Given the description of an element on the screen output the (x, y) to click on. 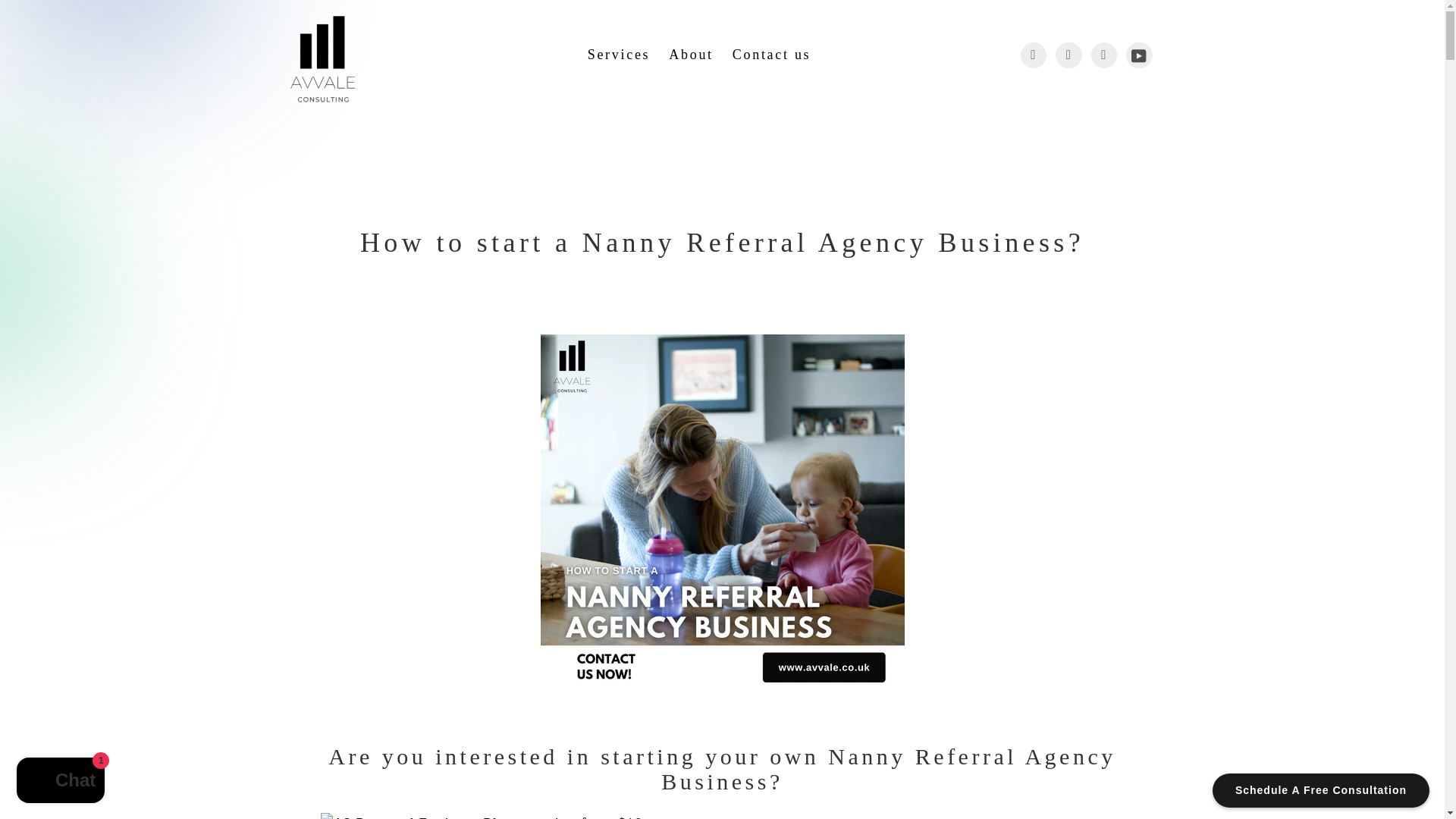
AVVALE on YouTube (1139, 55)
Shopify online store chat (60, 781)
AVVALE on Instagram (1068, 55)
AVVALE on Facebook (1033, 55)
AVVALE on LinkedIn (1103, 55)
Services (623, 55)
